Given the description of an element on the screen output the (x, y) to click on. 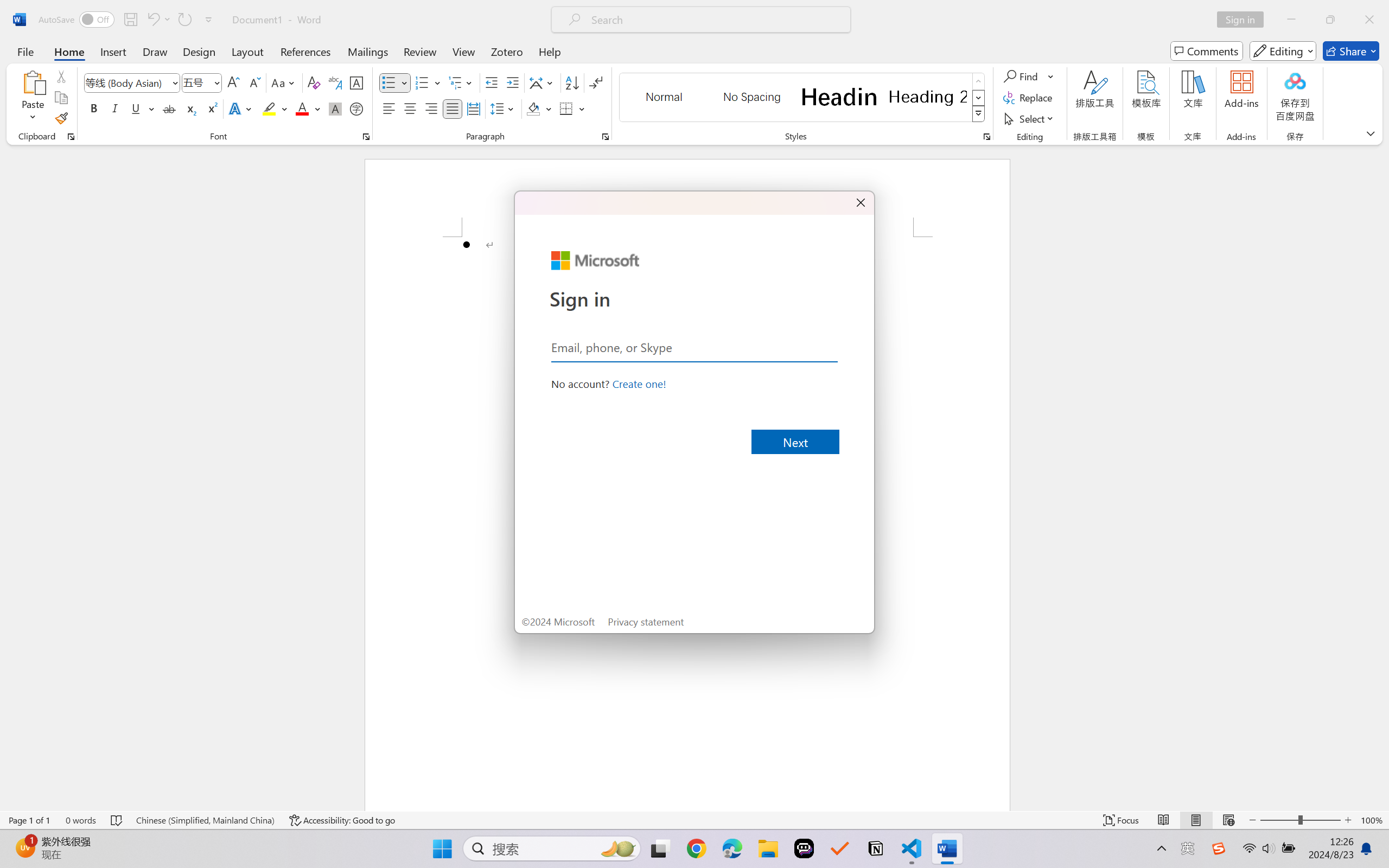
Sign in (1244, 19)
